Given the description of an element on the screen output the (x, y) to click on. 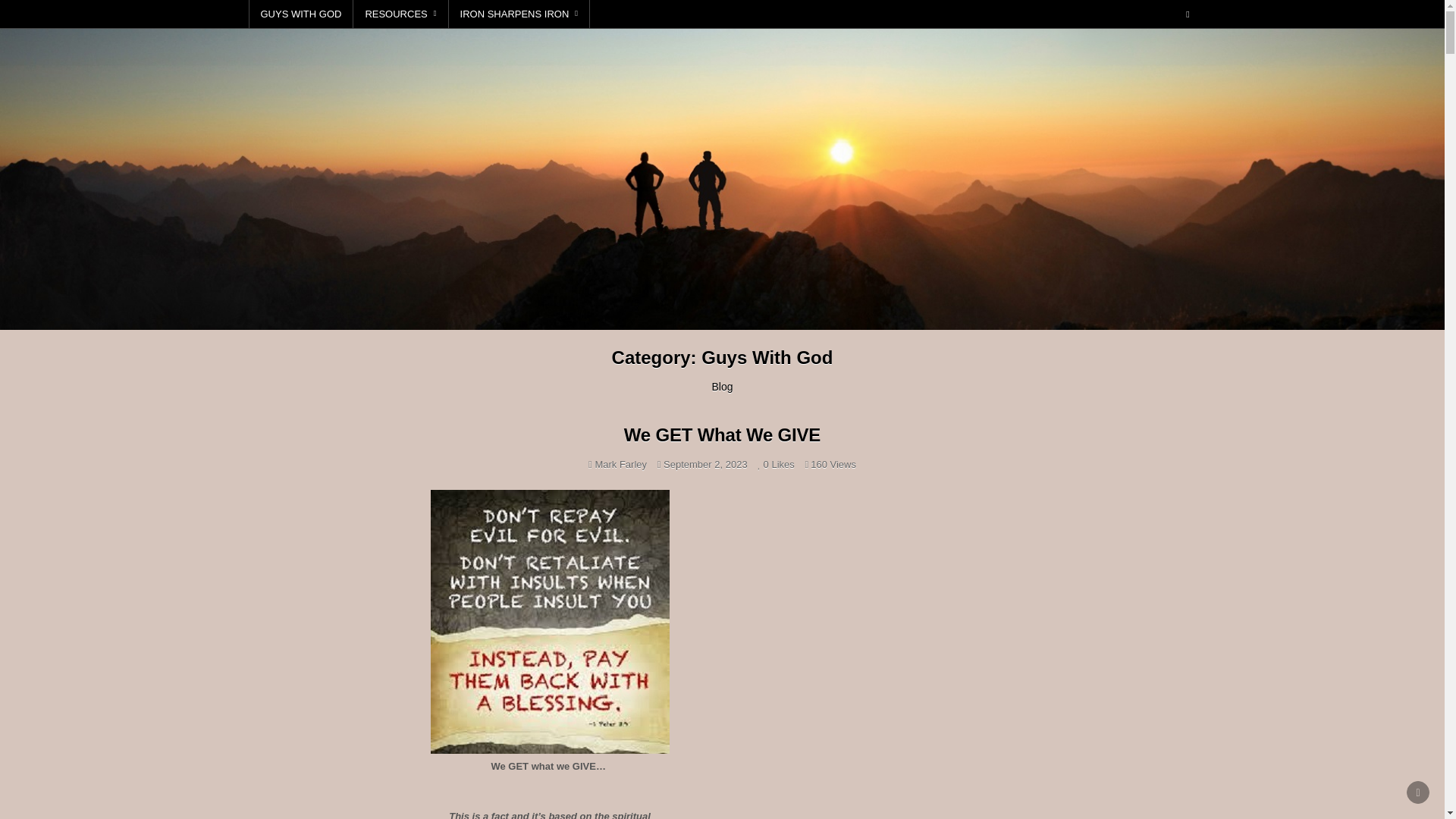
IRON SHARPENS IRON (519, 13)
GUYS WITH GOD (300, 13)
160 Views (816, 464)
Mark Farley (620, 464)
Like this (762, 464)
We GET What We GIVE (722, 435)
RESOURCES (400, 13)
Scroll to Top (1417, 792)
0 (762, 464)
